Given the description of an element on the screen output the (x, y) to click on. 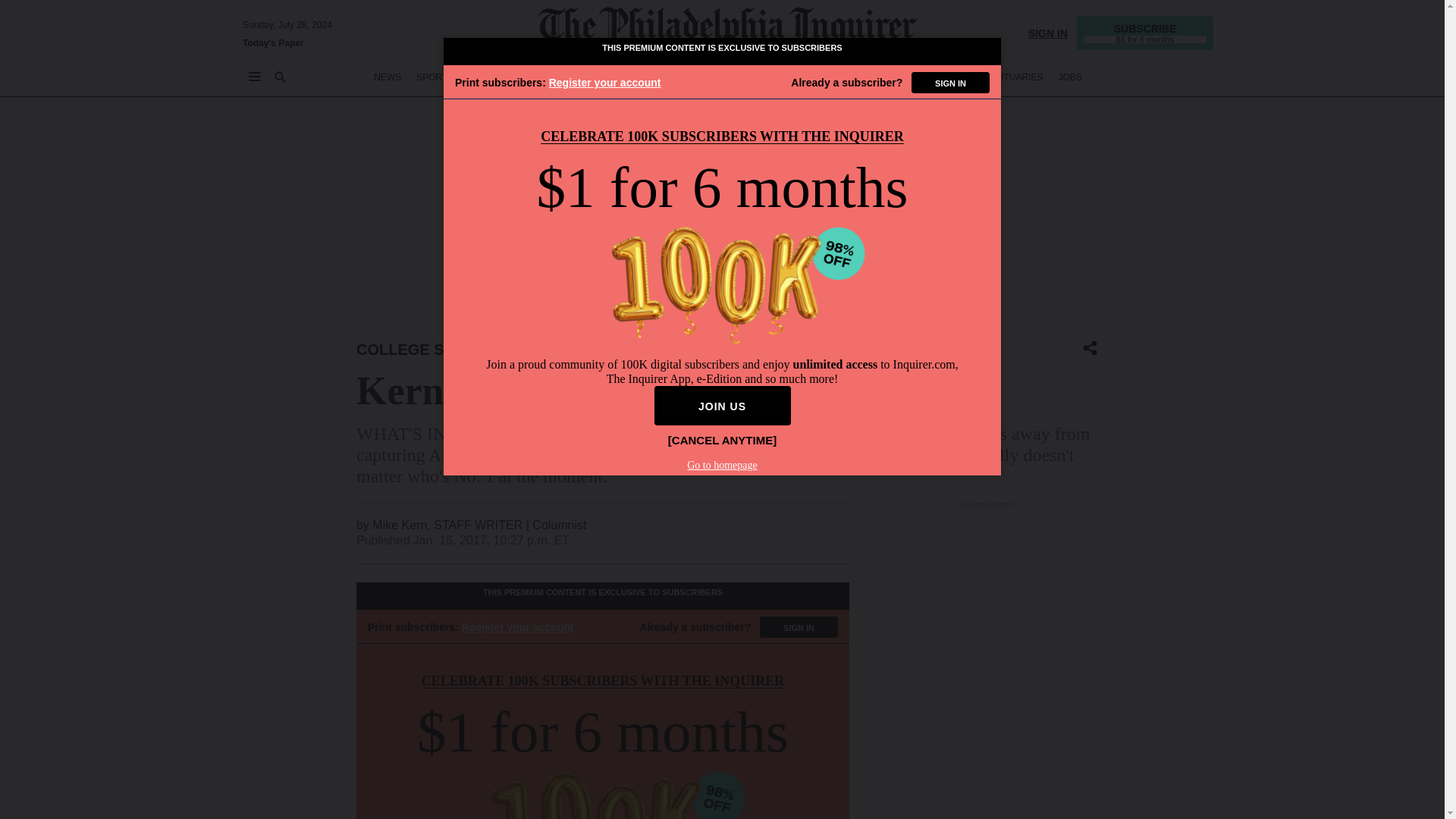
OBITUARIES (1015, 77)
SUBSCRIBE (1144, 32)
Share Icon (1090, 349)
HEALTH (878, 77)
SPORTS (434, 77)
BETTING (488, 77)
POLITICS (659, 77)
Today's Paper (273, 42)
LIFE (795, 77)
REAL ESTATE (942, 77)
JOBS (1069, 77)
VILLANOVA (560, 348)
Share Icon (1090, 348)
FOOD (834, 77)
NEWS (387, 77)
